Given the description of an element on the screen output the (x, y) to click on. 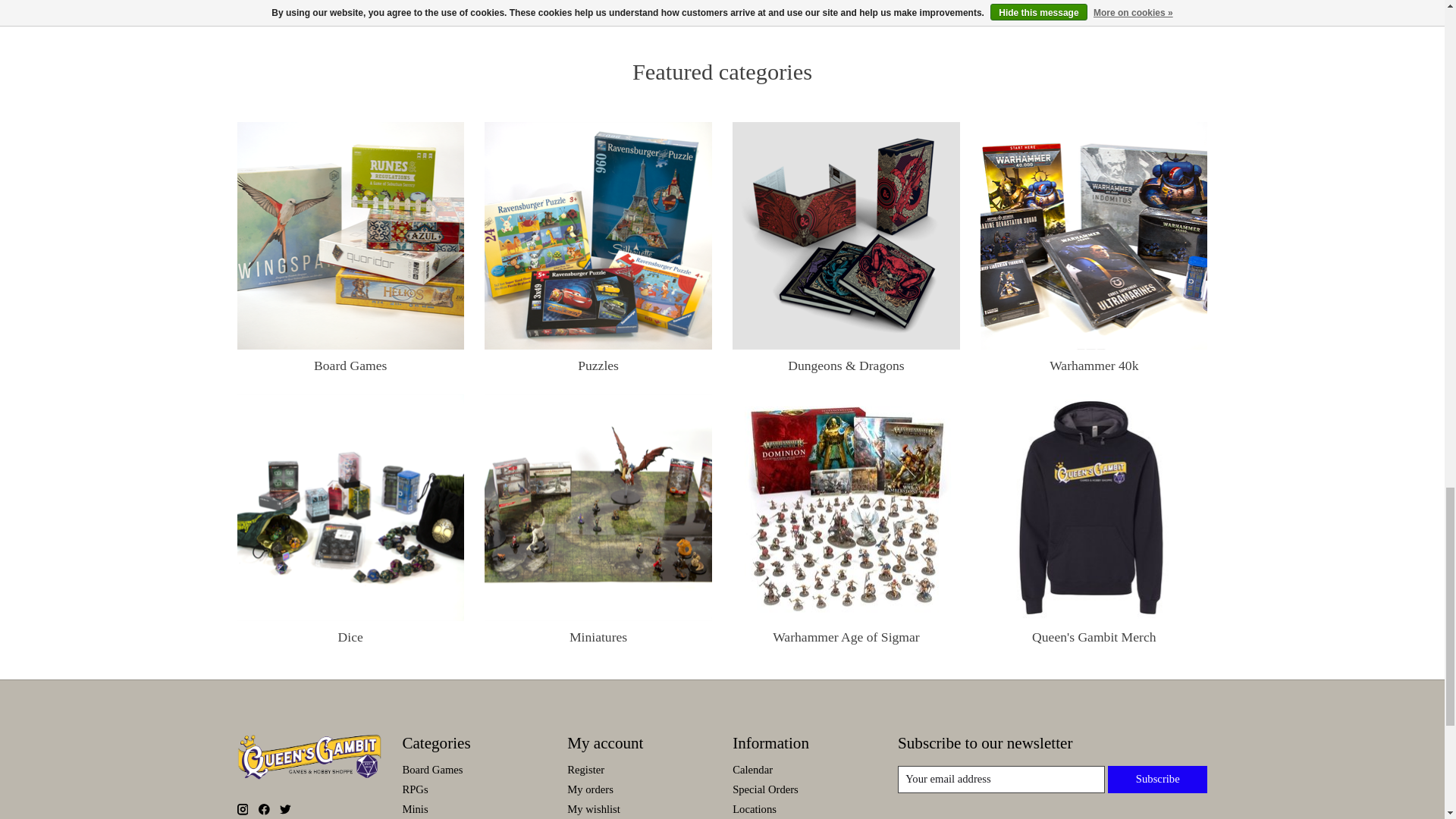
Dice (350, 506)
Register (585, 769)
Miniatures (597, 506)
Calendar (752, 769)
Warhammer 40k (1093, 235)
Queen's Gambit Merch (1093, 506)
Warhammer  Age of Sigmar (845, 506)
My orders (589, 788)
My wishlist (593, 808)
Board Games (350, 235)
Puzzles (597, 235)
